Given the description of an element on the screen output the (x, y) to click on. 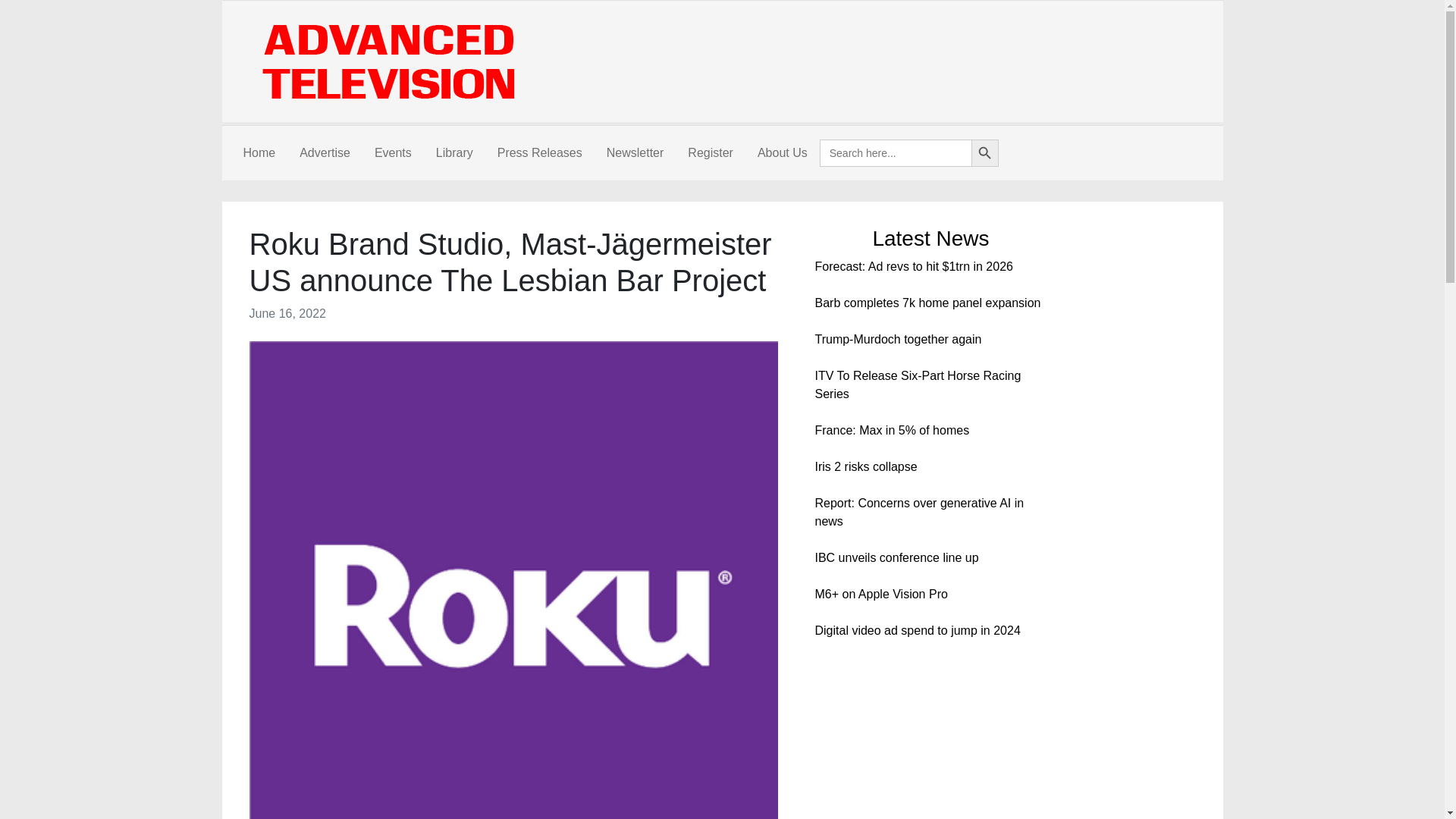
Register (710, 153)
Press Releases (539, 153)
Digital video ad spend to jump in 2024 (916, 630)
Report: Concerns over generative AI in news (918, 511)
Library (453, 153)
IBC unveils conference line up (895, 557)
Search Button (984, 153)
Advertise (324, 153)
Events (392, 153)
Iris 2 risks collapse (865, 466)
Barb completes 7k home panel expansion (927, 302)
ITV To Release Six-Part Horse Racing Series (916, 384)
About Us (782, 153)
Home (258, 153)
Trump-Murdoch together again (897, 338)
